Given the description of an element on the screen output the (x, y) to click on. 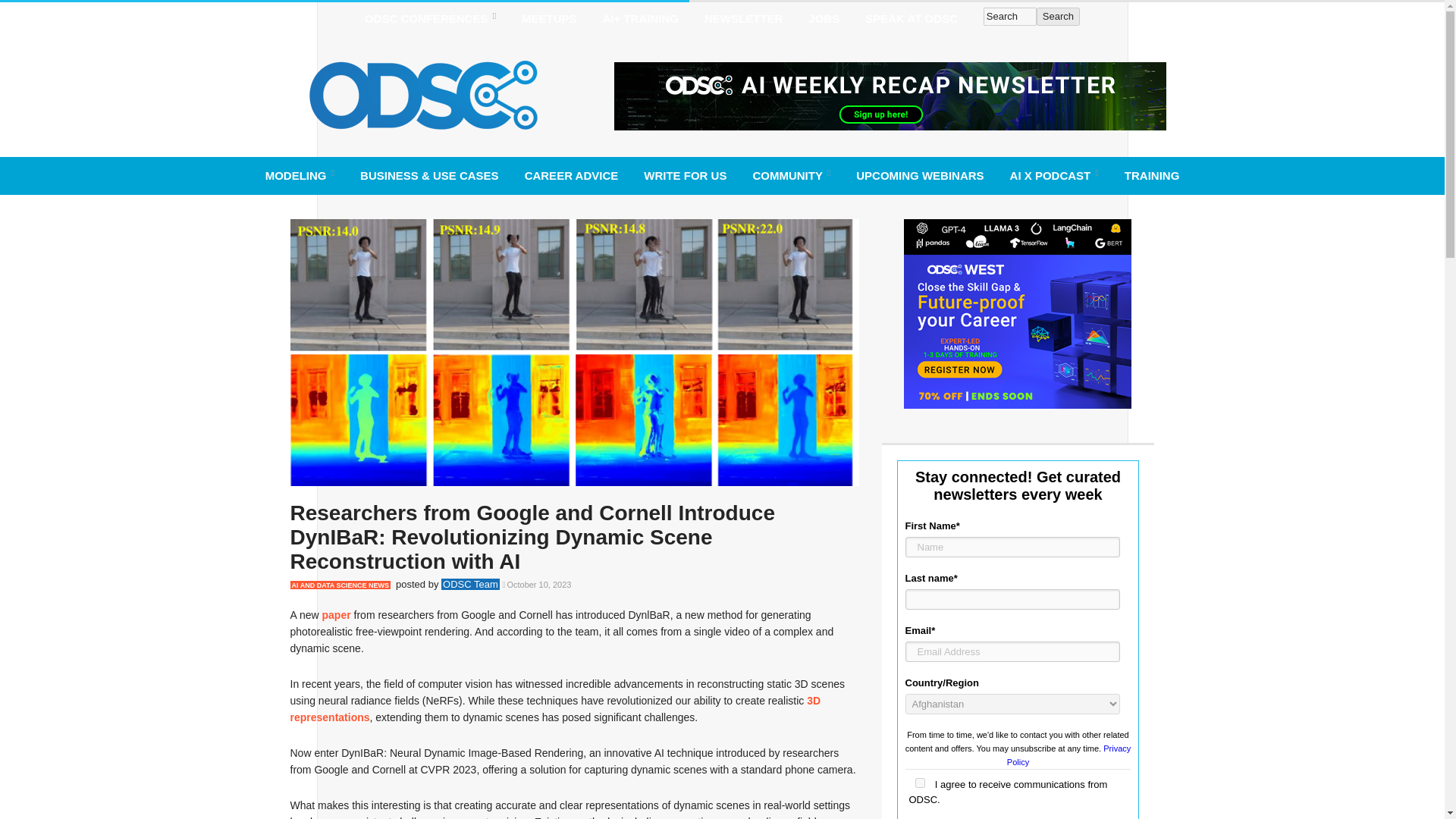
JOBS (822, 18)
MEETUPS (548, 18)
Search (1058, 16)
TRAINING (1152, 175)
AI X PODCAST (1054, 175)
Speak at ODSC (911, 18)
MEETUPS (548, 18)
WRITE FOR US (684, 175)
UPCOMING WEBINARS (919, 175)
true (919, 782)
ODSC Conferences (430, 18)
Newsletter (742, 18)
Modeling (299, 175)
Jobs (822, 18)
Search (1010, 16)
